Given the description of an element on the screen output the (x, y) to click on. 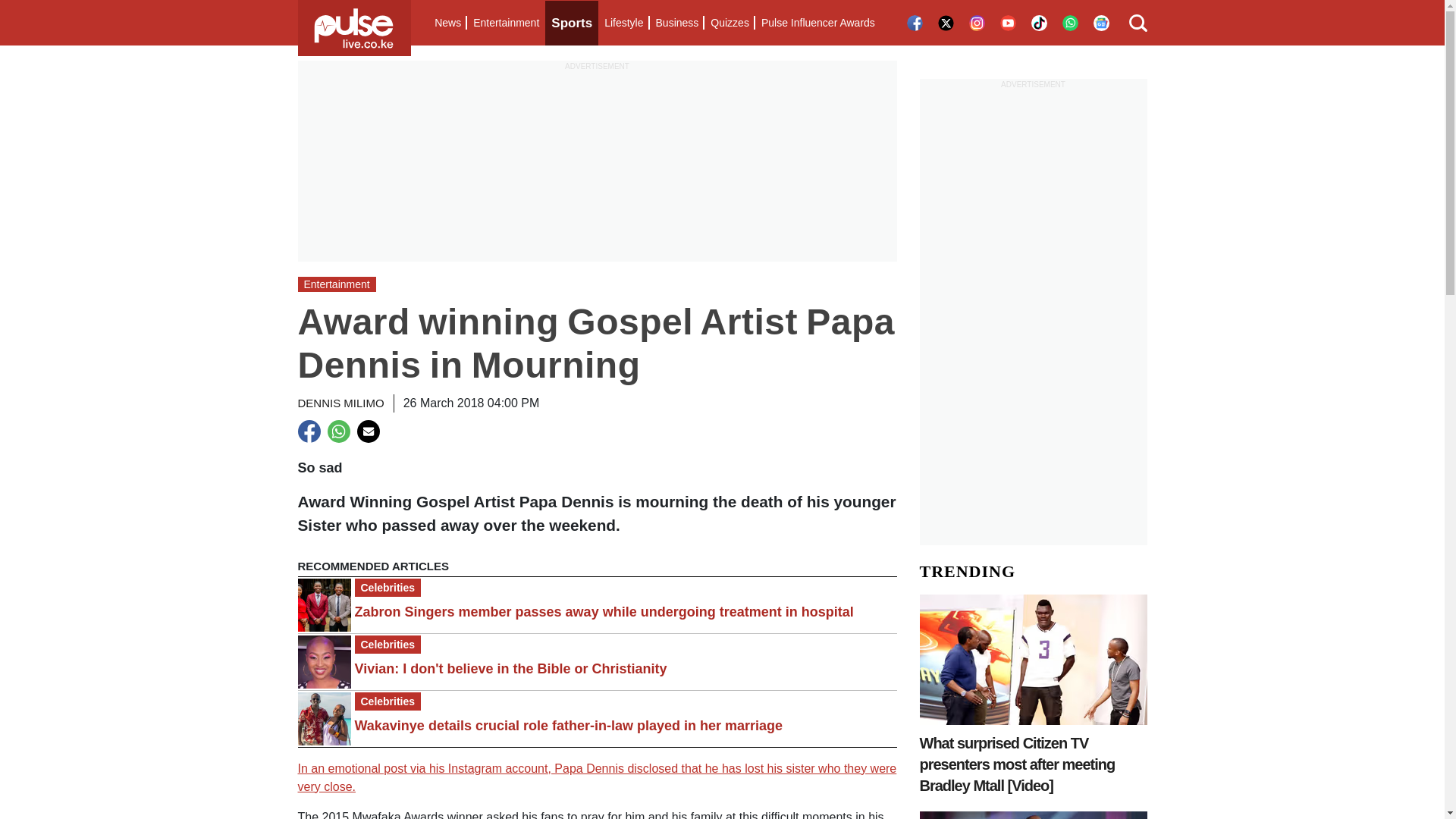
Business (676, 22)
Lifestyle (623, 22)
Sports (571, 22)
Pulse Influencer Awards (817, 22)
Entertainment (505, 22)
Quizzes (729, 22)
